Given the description of an element on the screen output the (x, y) to click on. 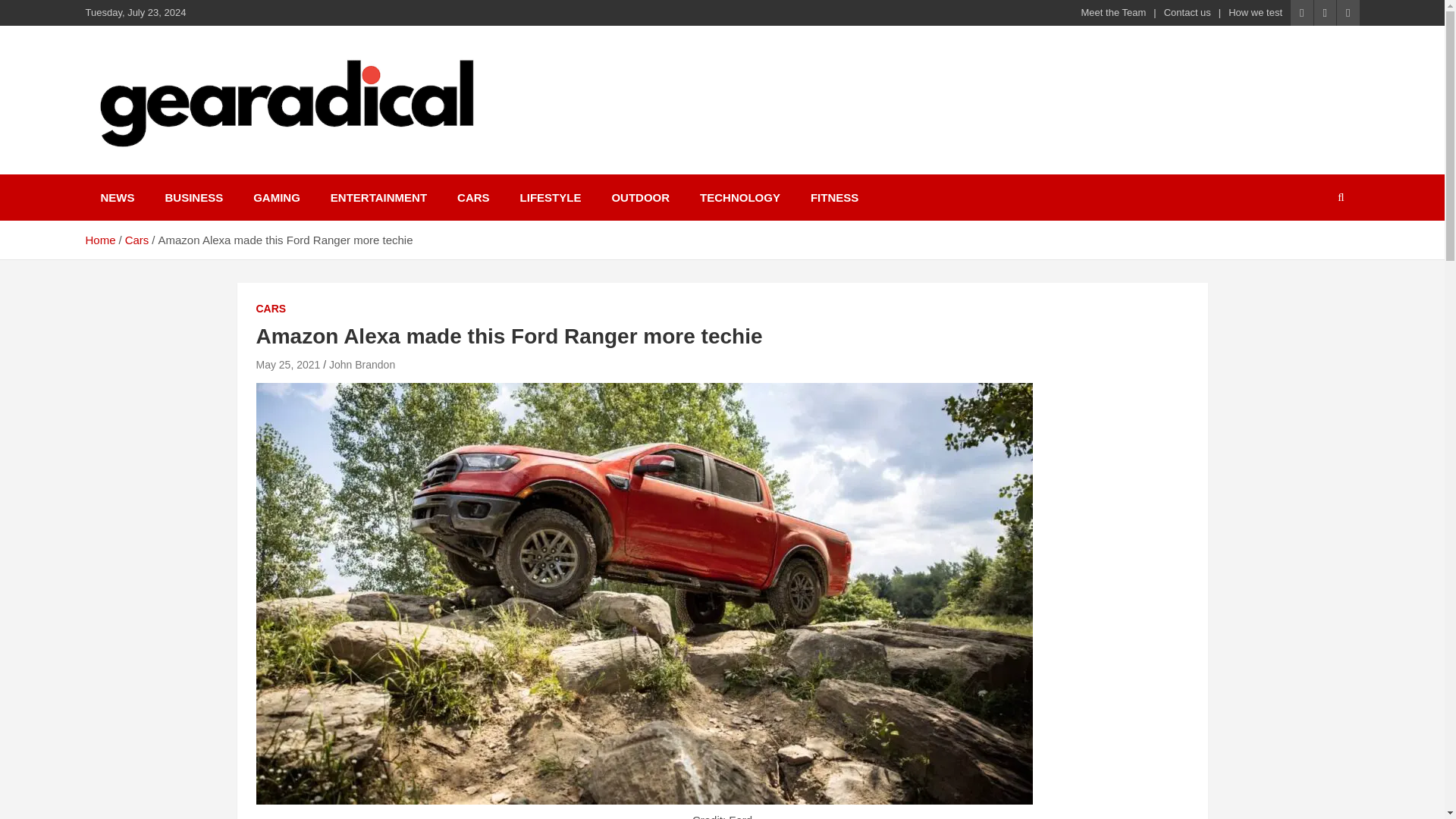
ENTERTAINMENT (378, 197)
How we test (1255, 12)
GAMING (276, 197)
CARS (473, 197)
GEARADICAL (185, 171)
Home (99, 239)
TECHNOLOGY (739, 197)
Meet the Team (1114, 12)
NEWS (116, 197)
LIFESTYLE (550, 197)
May 25, 2021 (288, 364)
Amazon Alexa made this Ford Ranger more techie (288, 364)
CARS (271, 309)
John Brandon (361, 364)
BUSINESS (193, 197)
